Given the description of an element on the screen output the (x, y) to click on. 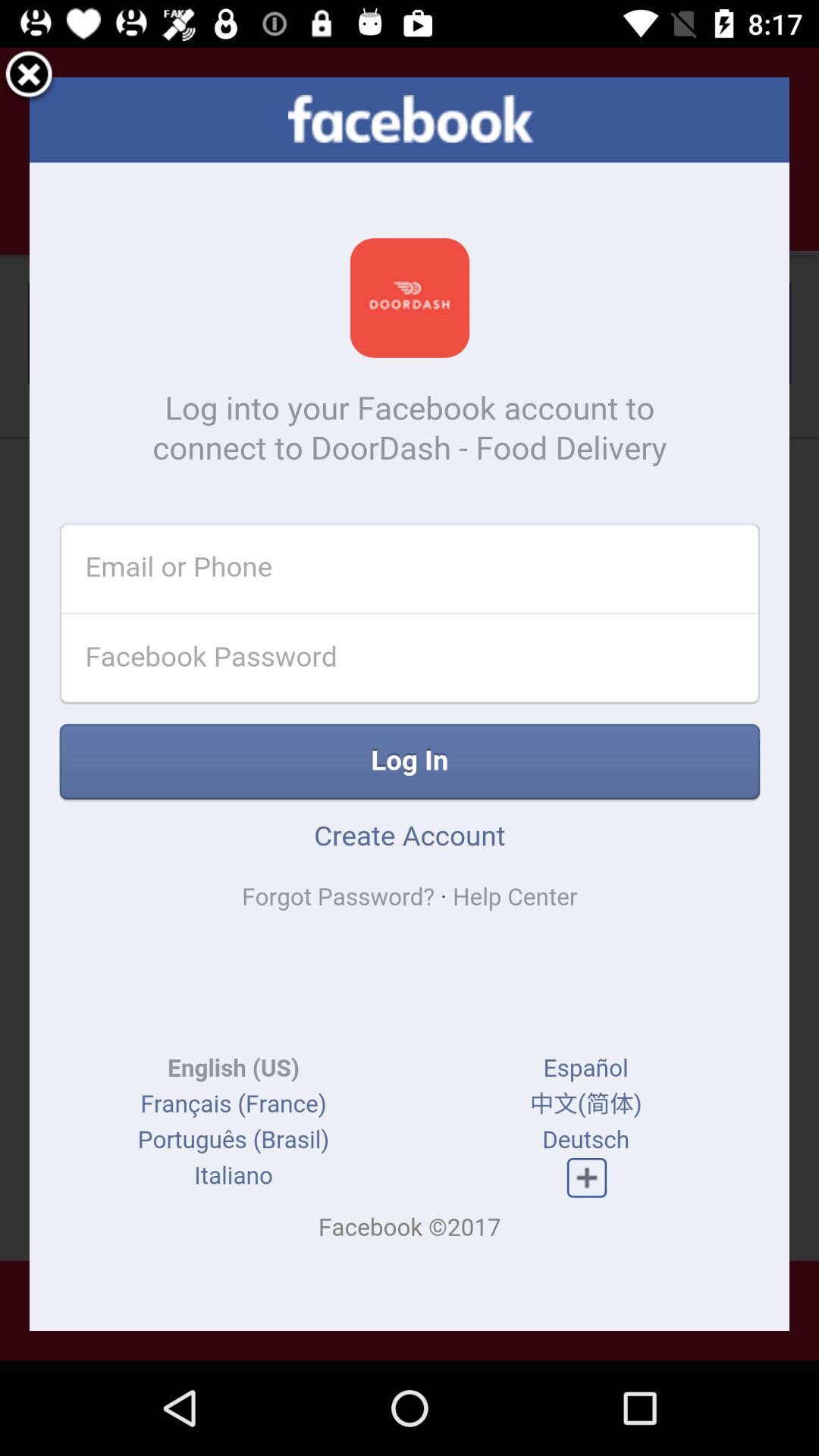
close window (29, 76)
